Given the description of an element on the screen output the (x, y) to click on. 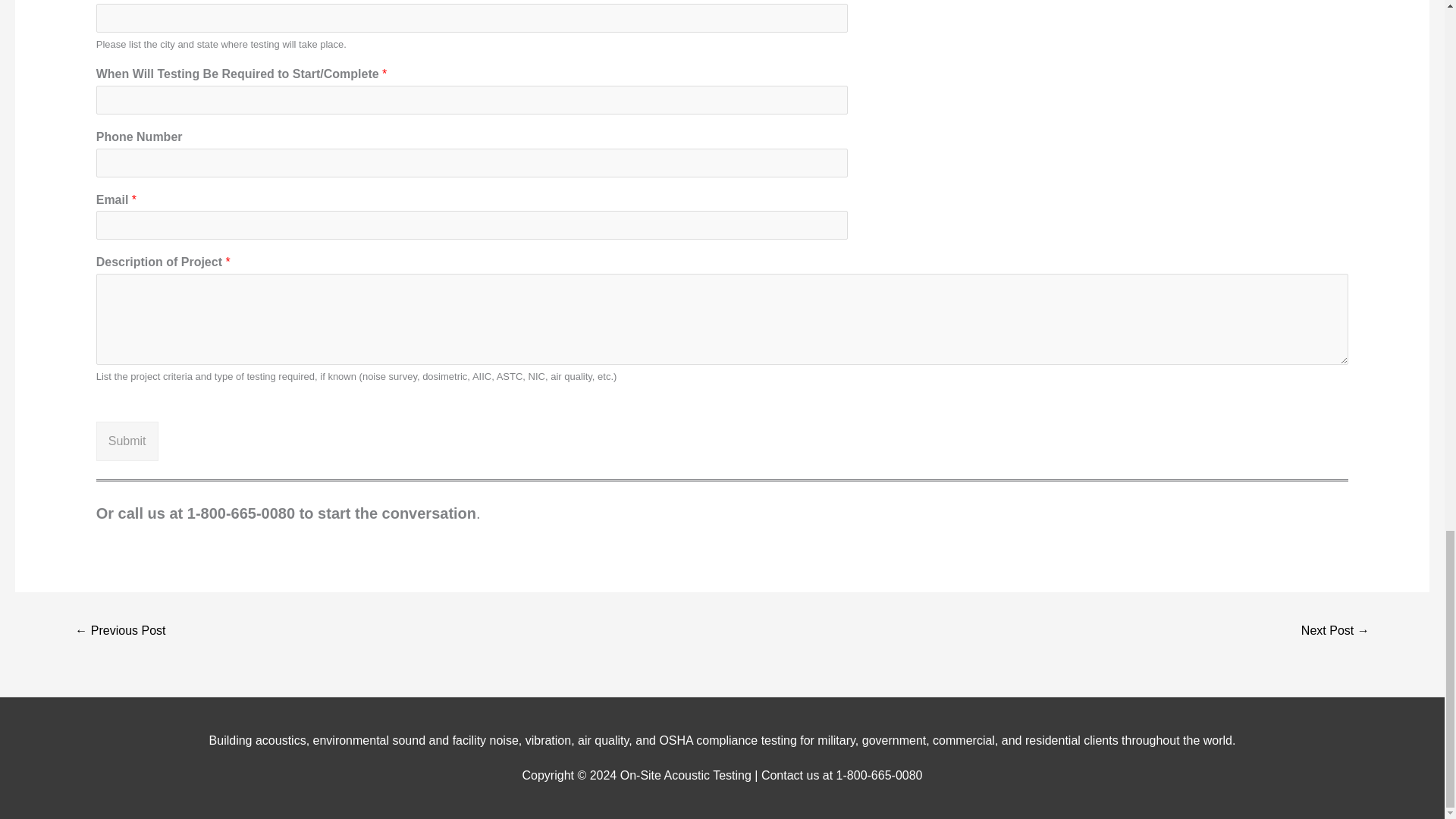
Submit (127, 441)
